Given the description of an element on the screen output the (x, y) to click on. 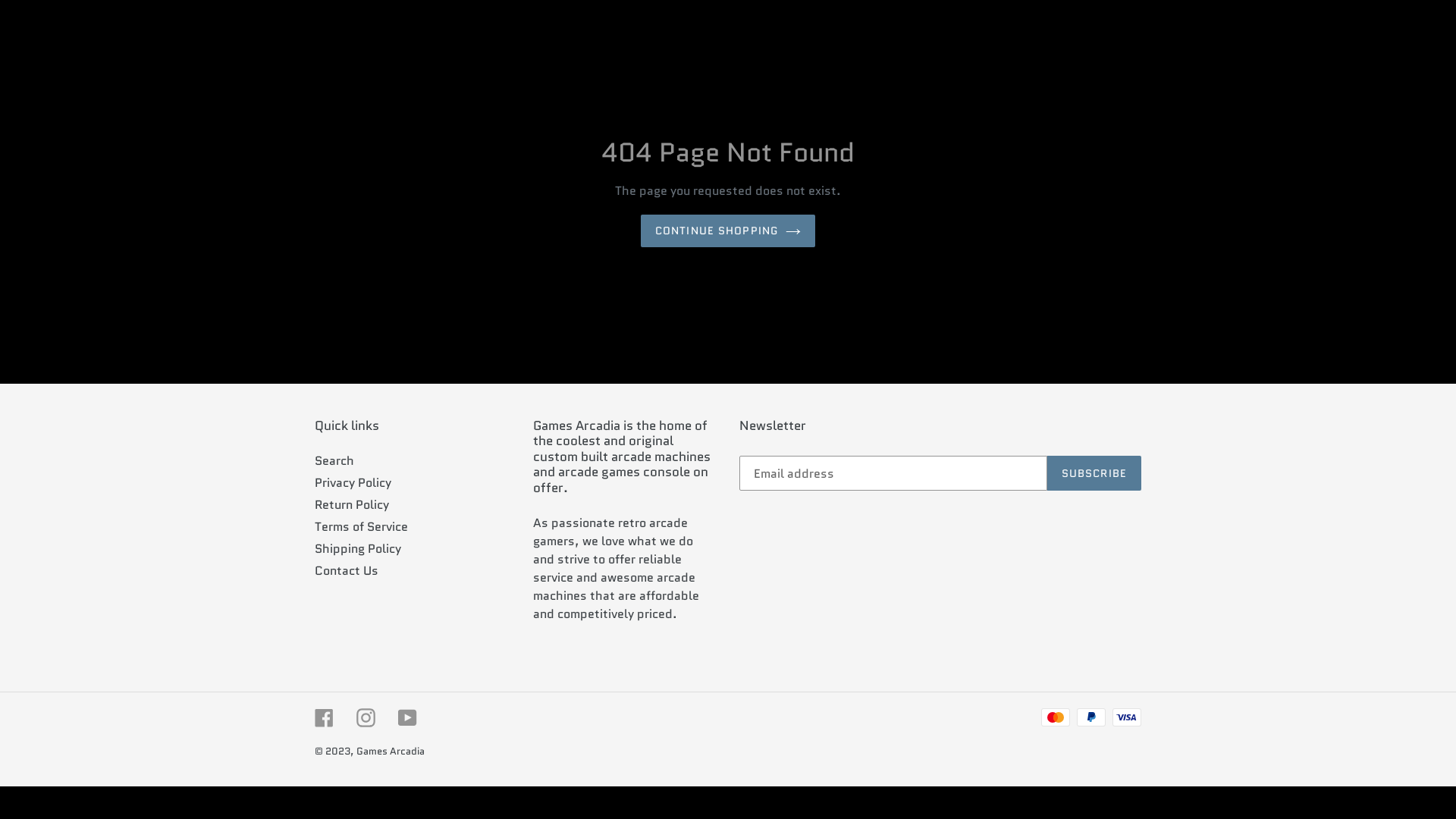
Contact Us Element type: text (346, 570)
Terms of Service Element type: text (360, 526)
YouTube Element type: text (407, 717)
Facebook Element type: text (323, 717)
Privacy Policy Element type: text (352, 482)
Instagram Element type: text (365, 717)
Games Arcadia Element type: text (390, 750)
CONTINUE SHOPPING Element type: text (727, 230)
SUBSCRIBE Element type: text (1094, 472)
Return Policy Element type: text (351, 504)
Shipping Policy Element type: text (357, 548)
Search Element type: text (334, 460)
